Given the description of an element on the screen output the (x, y) to click on. 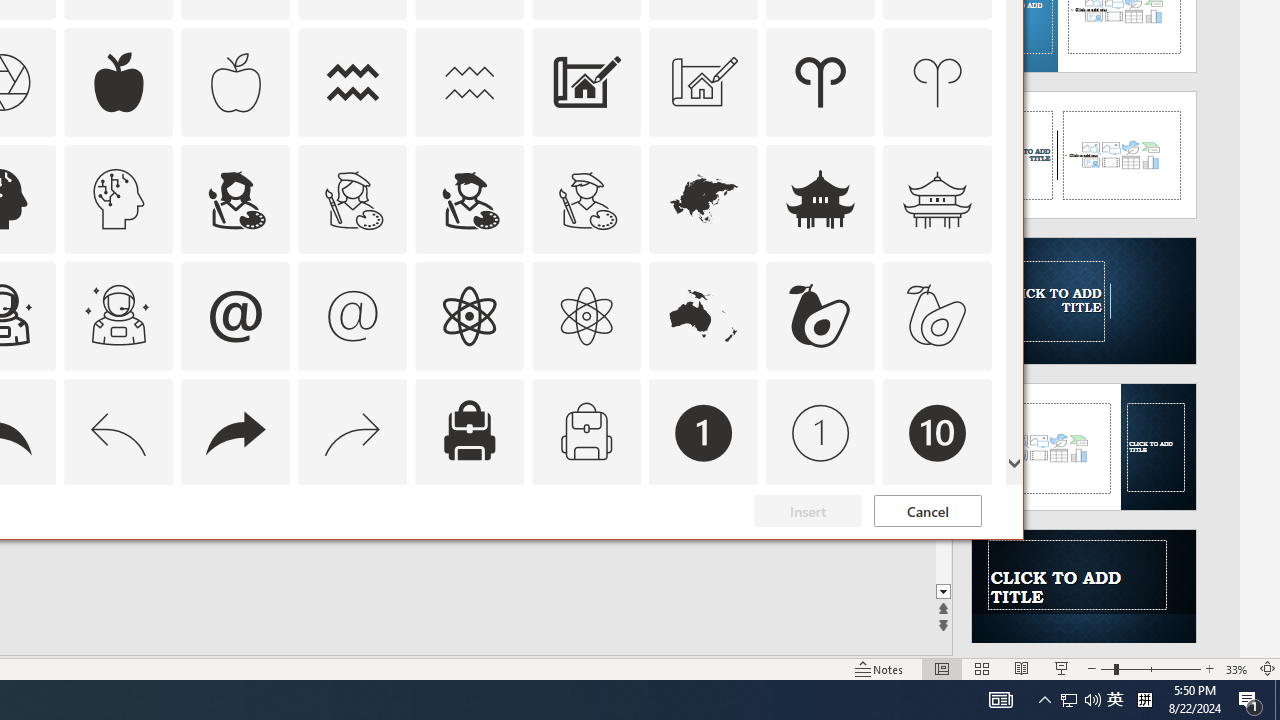
AutomationID: Icons_Aquarius_M (469, 82)
AutomationID: Icons_Back_RTL (235, 432)
AutomationID: Icons_Badge1 (703, 432)
AutomationID: Icons_Apple_M (235, 82)
AutomationID: Icons_Avocado_M (938, 316)
AutomationID: Icons_Badge8 (586, 550)
